Given the description of an element on the screen output the (x, y) to click on. 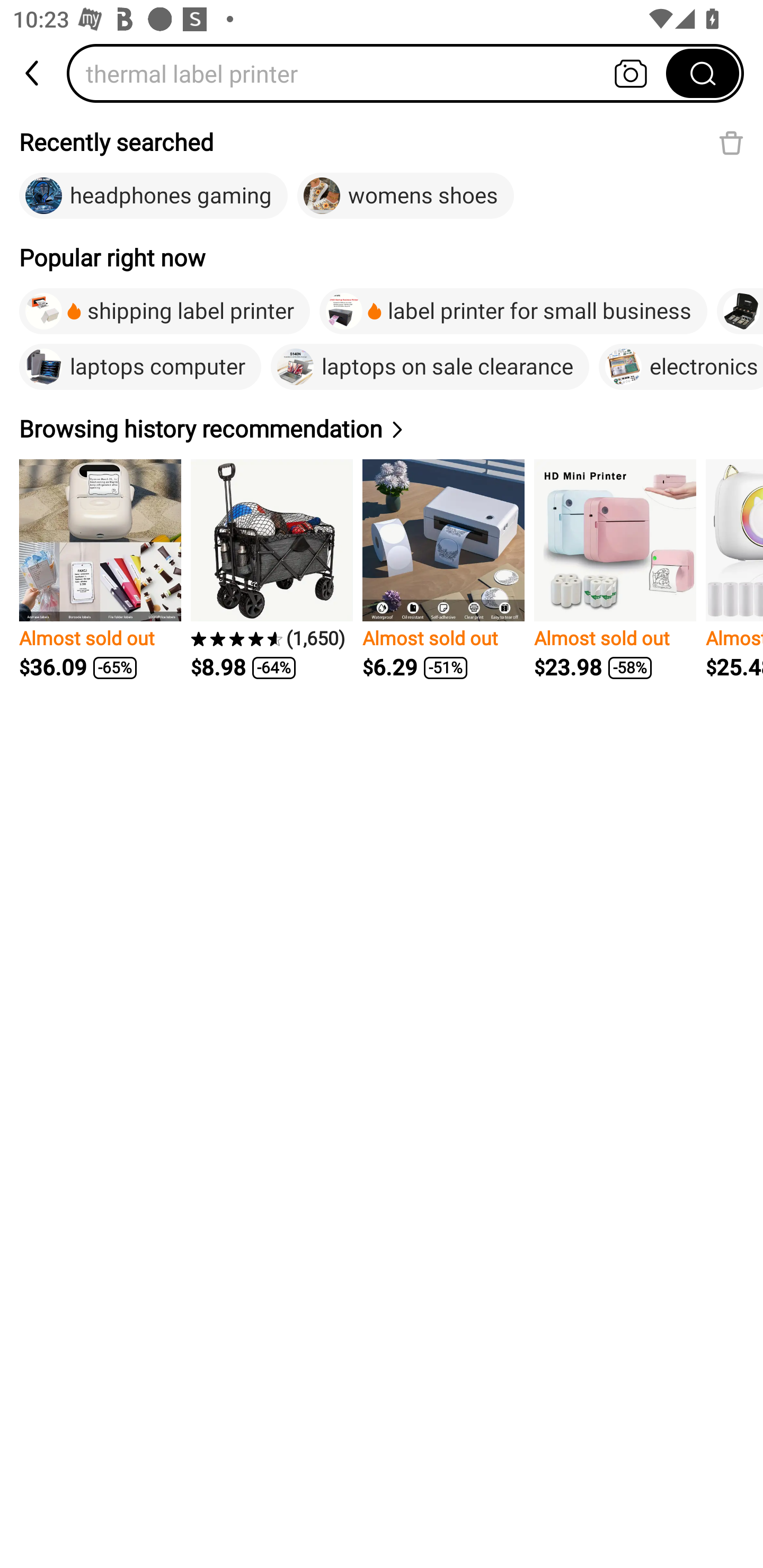
back (33, 72)
thermal label printer (372, 73)
Search by photo (630, 73)
Delete recent search (731, 142)
headphones gaming (153, 195)
womens shoes (405, 195)
shipping label printer (164, 310)
label printer for small business (513, 310)
laptops computer (139, 366)
laptops on sale clearance (429, 366)
electronics (680, 366)
Browsing history recommendation (213, 429)
Almost sold out $36.09 -65% (100, 569)
(1,650) $8.98 -64% (271, 569)
Almost sold out $6.29 -51% (443, 569)
Almost sold out $23.98 -58% (614, 569)
